Given the description of an element on the screen output the (x, y) to click on. 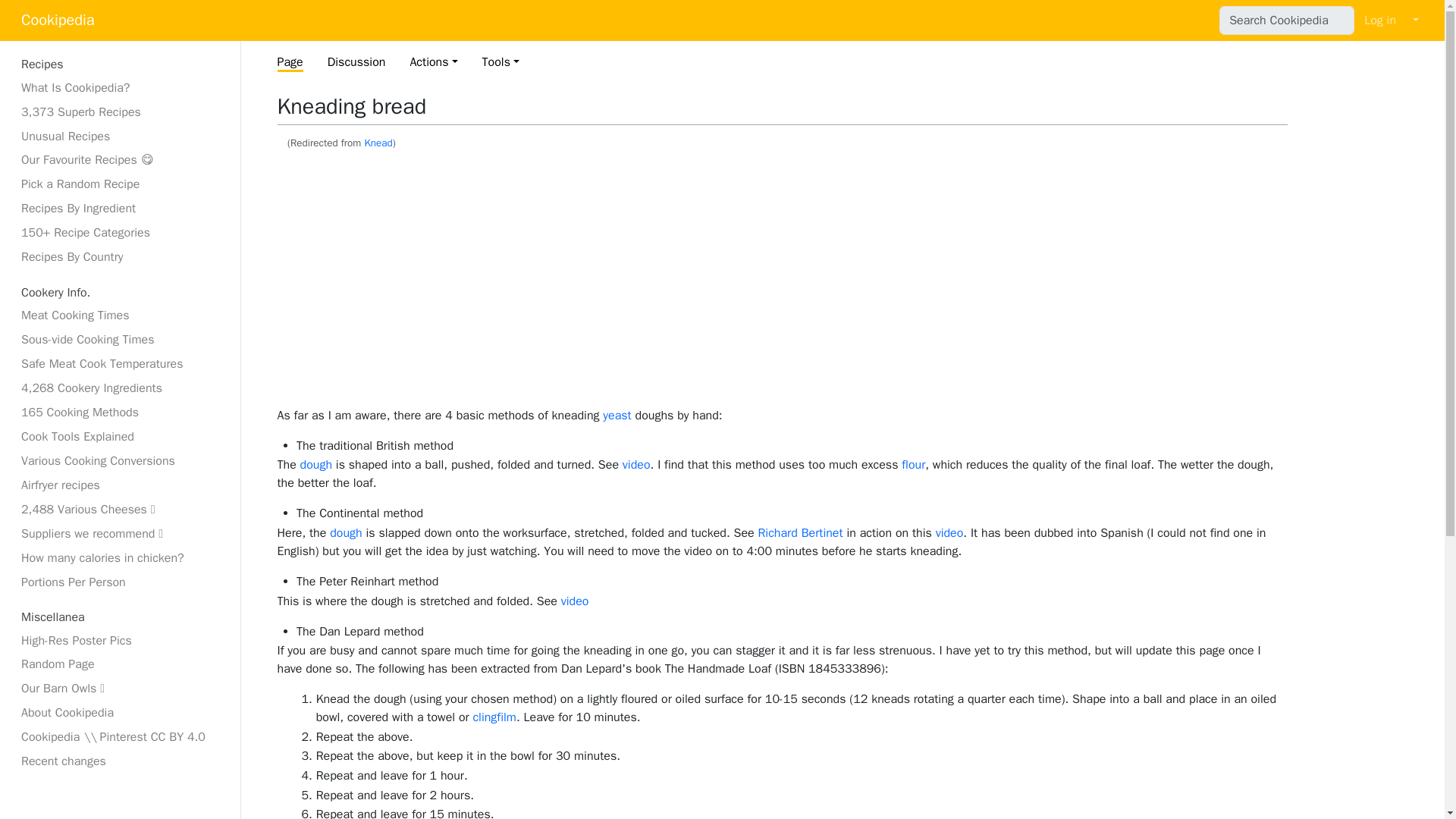
Cookipedia (57, 19)
Various Cooking Conversions (119, 460)
Log in (1380, 20)
Actions (433, 61)
Cook Tools Explained (119, 436)
4,268 Cookery Ingredients (119, 387)
About Cookipedia (119, 712)
Safe Meat Cook Temperatures (119, 363)
Unusual Recipes (119, 135)
Cookery Info. (119, 292)
Recipes By Country (119, 256)
Random Page (119, 663)
Visit the main page (57, 19)
Portions Per Person (119, 581)
